Given the description of an element on the screen output the (x, y) to click on. 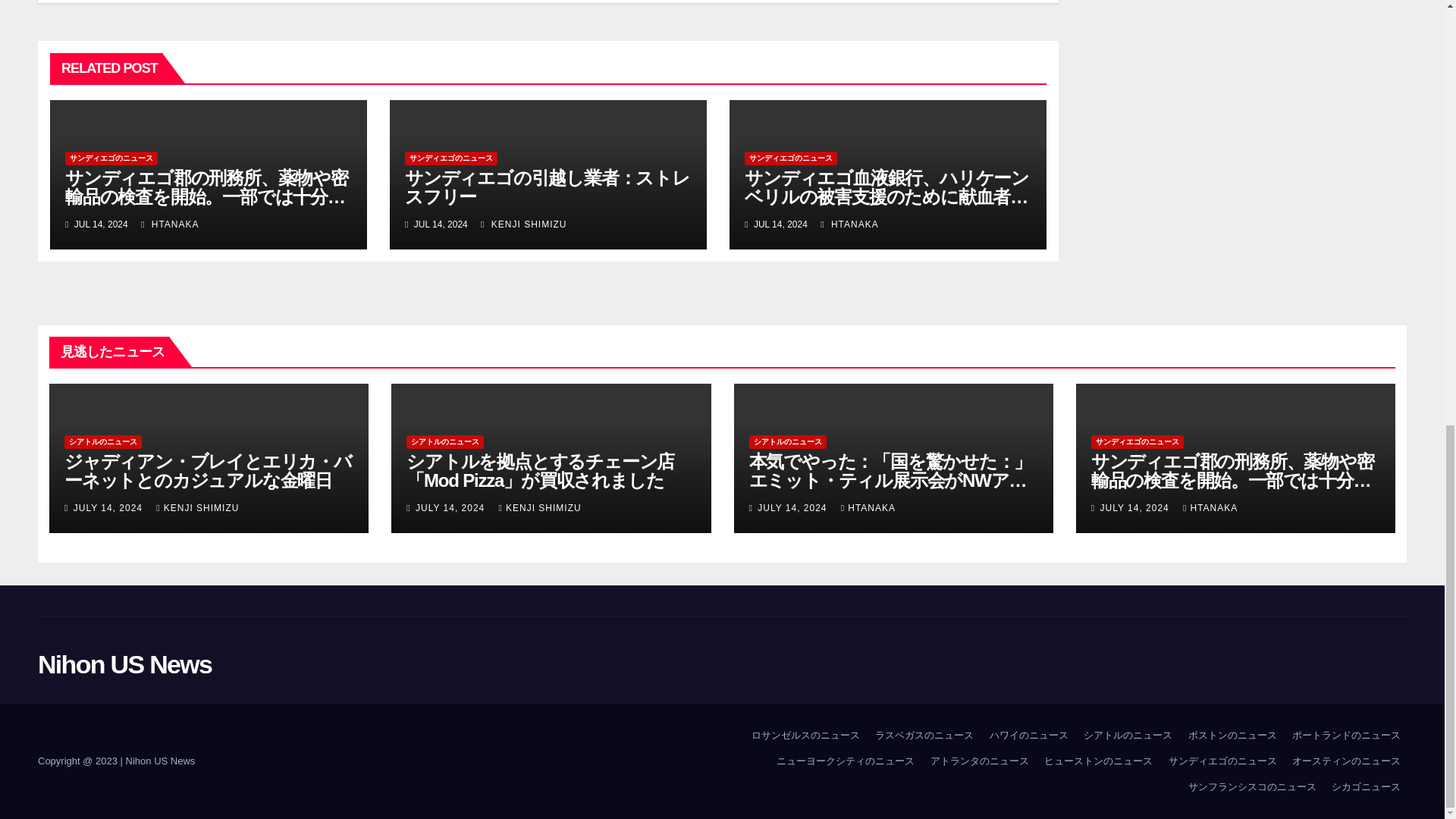
HTANAKA (170, 224)
KENJI SHIMIZU (523, 224)
HTANAKA (850, 224)
